Given the description of an element on the screen output the (x, y) to click on. 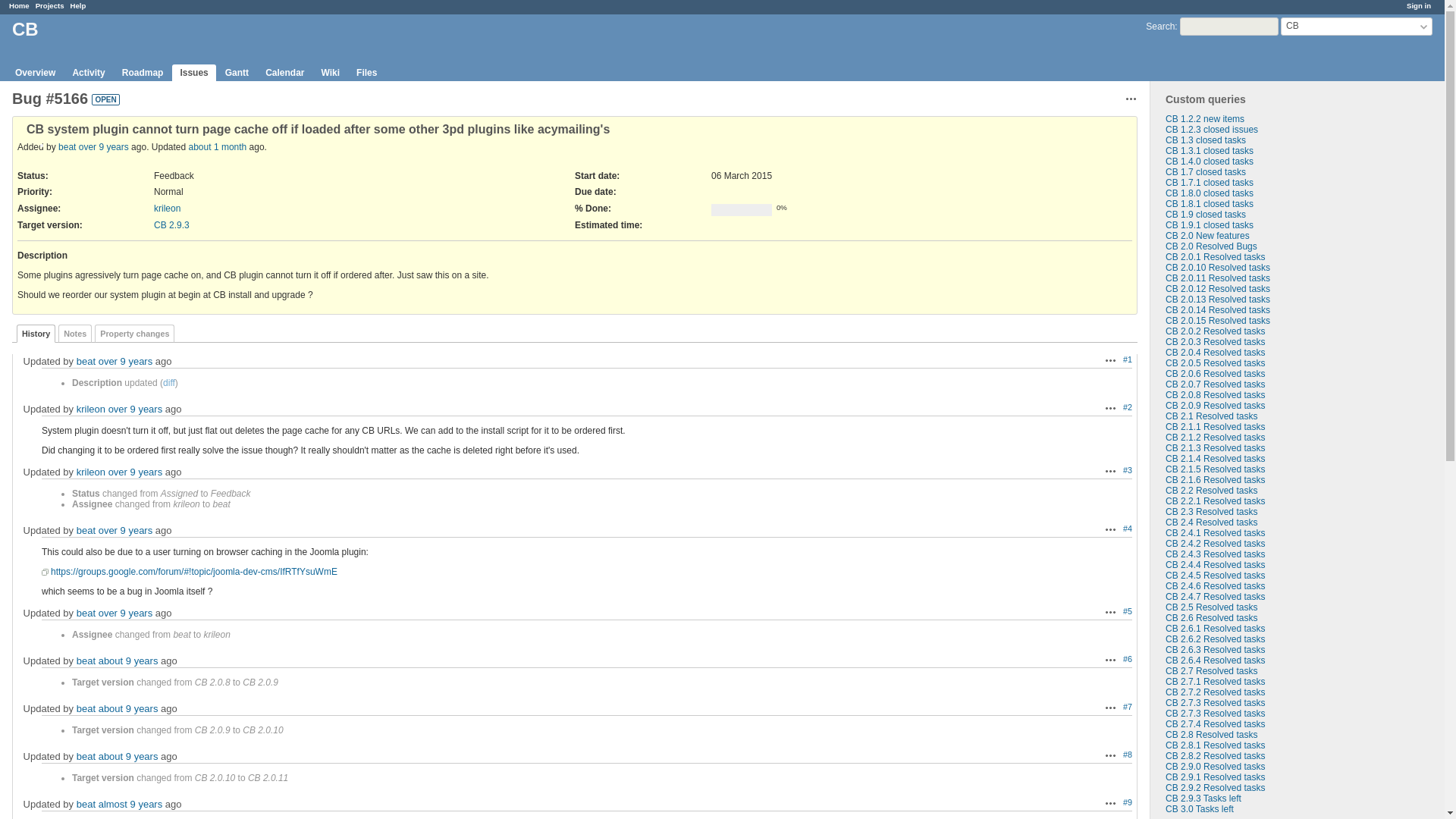
CB 2.0.12 Resolved tasks (1217, 288)
CB 2.0.2 Resolved tasks (1215, 330)
CB 2.0.1 Resolved tasks (1215, 256)
10 March 2015 15:45 (135, 408)
Activity (88, 72)
Help (77, 5)
CB 2.0.14 Resolved tasks (1217, 309)
CB 1.2.3 closed issues (1211, 129)
CB 1.8.1 closed tasks (1209, 204)
Projects (49, 5)
CB 2.0 New features (1207, 235)
12 June 2024 14:02 (218, 146)
31 August 2024 (171, 225)
CB 2.0.3 Resolved tasks (1215, 341)
CB 1.2.2 new items (1205, 118)
